Given the description of an element on the screen output the (x, y) to click on. 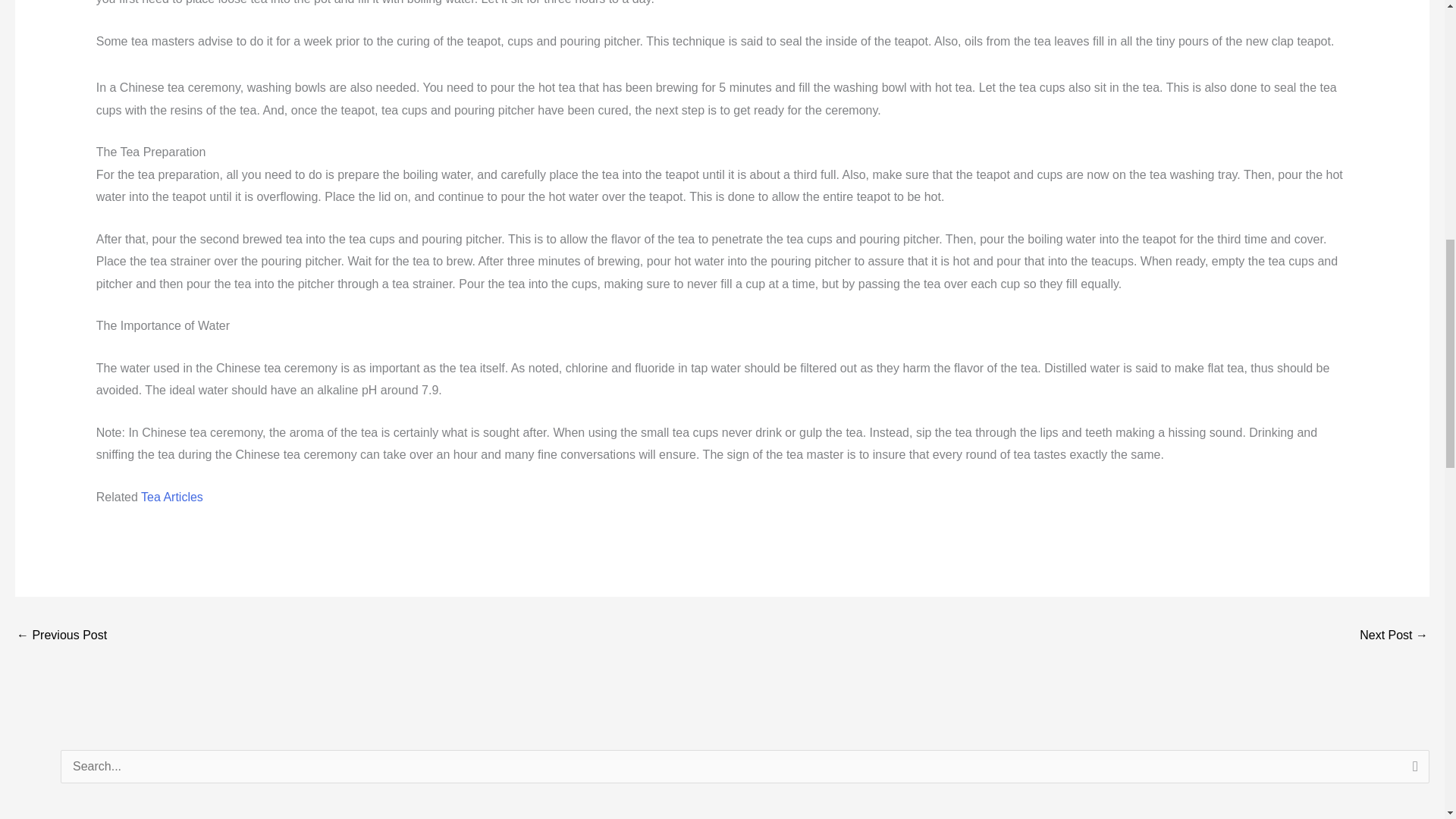
Six Tips For When You Buy Coffee Beans (1393, 636)
Tea Articles (172, 496)
